Given the description of an element on the screen output the (x, y) to click on. 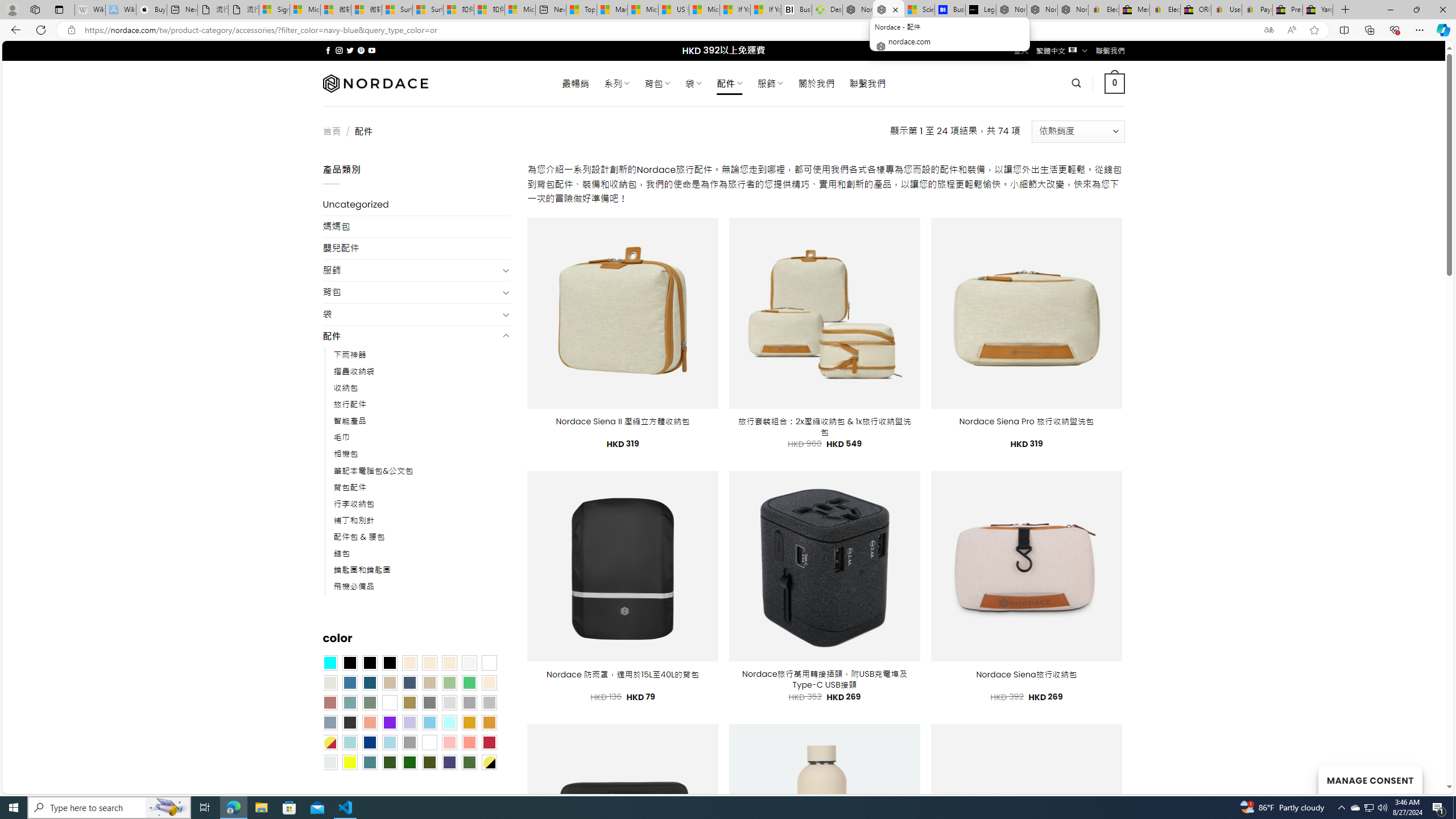
US Heat Deaths Soared To Record High Last Year (673, 9)
